Given the description of an element on the screen output the (x, y) to click on. 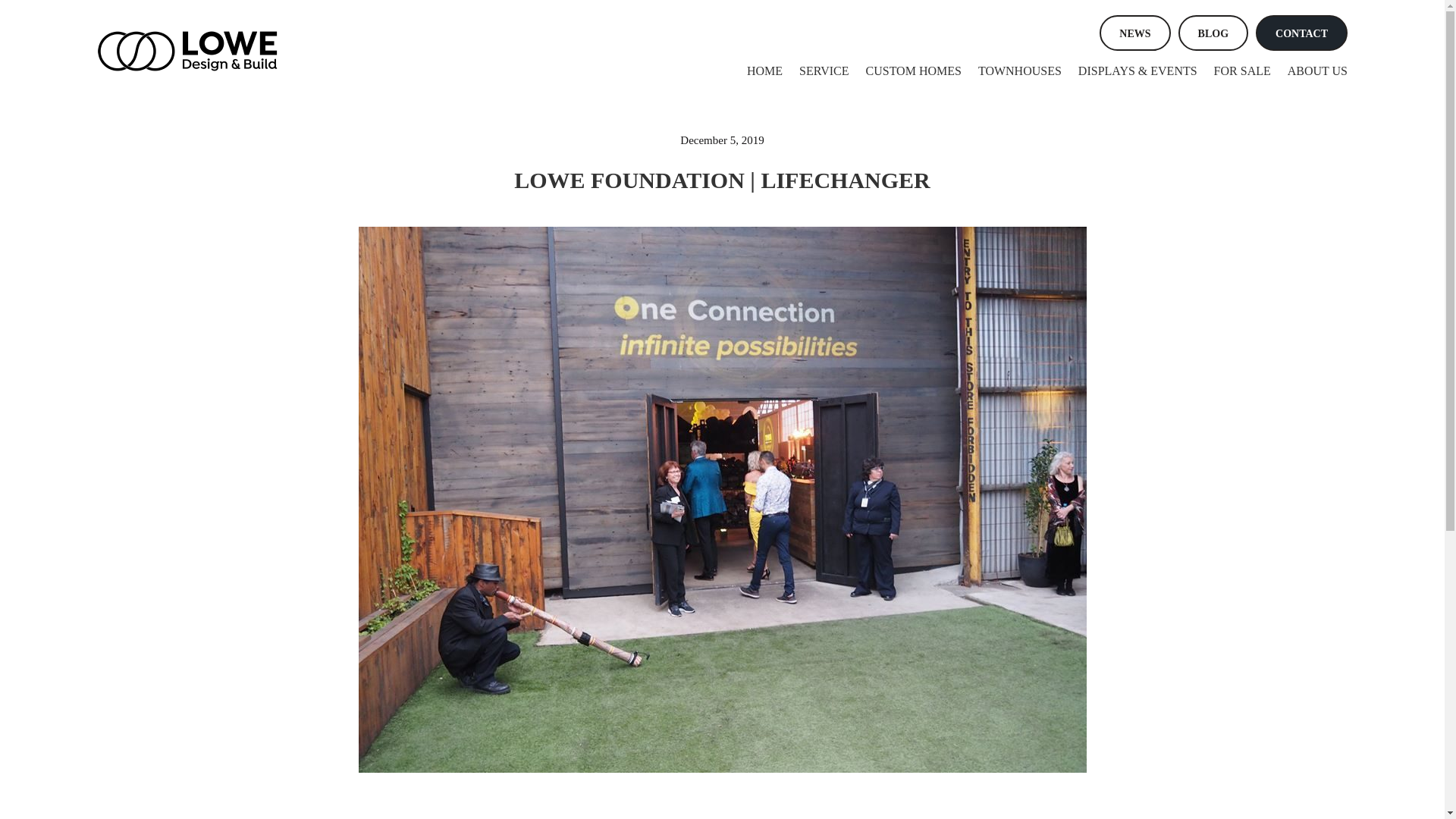
CUSTOM HOMES (904, 70)
BLOG (1212, 32)
CONTACT (1301, 32)
ABOUT US (1309, 70)
HOME (756, 70)
TOWNHOUSES (1010, 70)
SERVICE (815, 70)
NEWS (1134, 32)
FOR SALE (1233, 70)
